Given the description of an element on the screen output the (x, y) to click on. 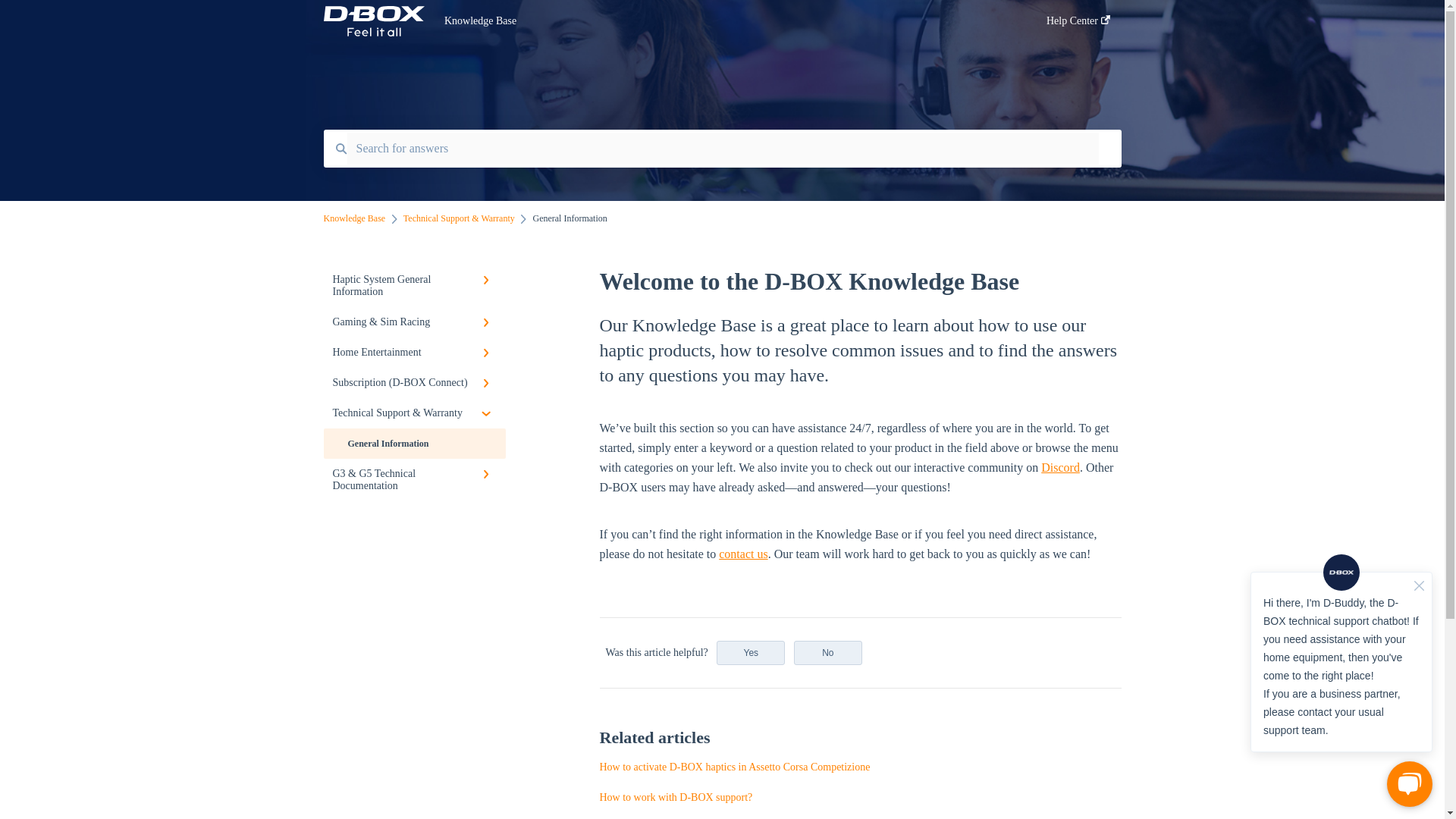
Help Center (1077, 25)
Knowledge Base (354, 217)
Knowledge Base (722, 21)
